Given the description of an element on the screen output the (x, y) to click on. 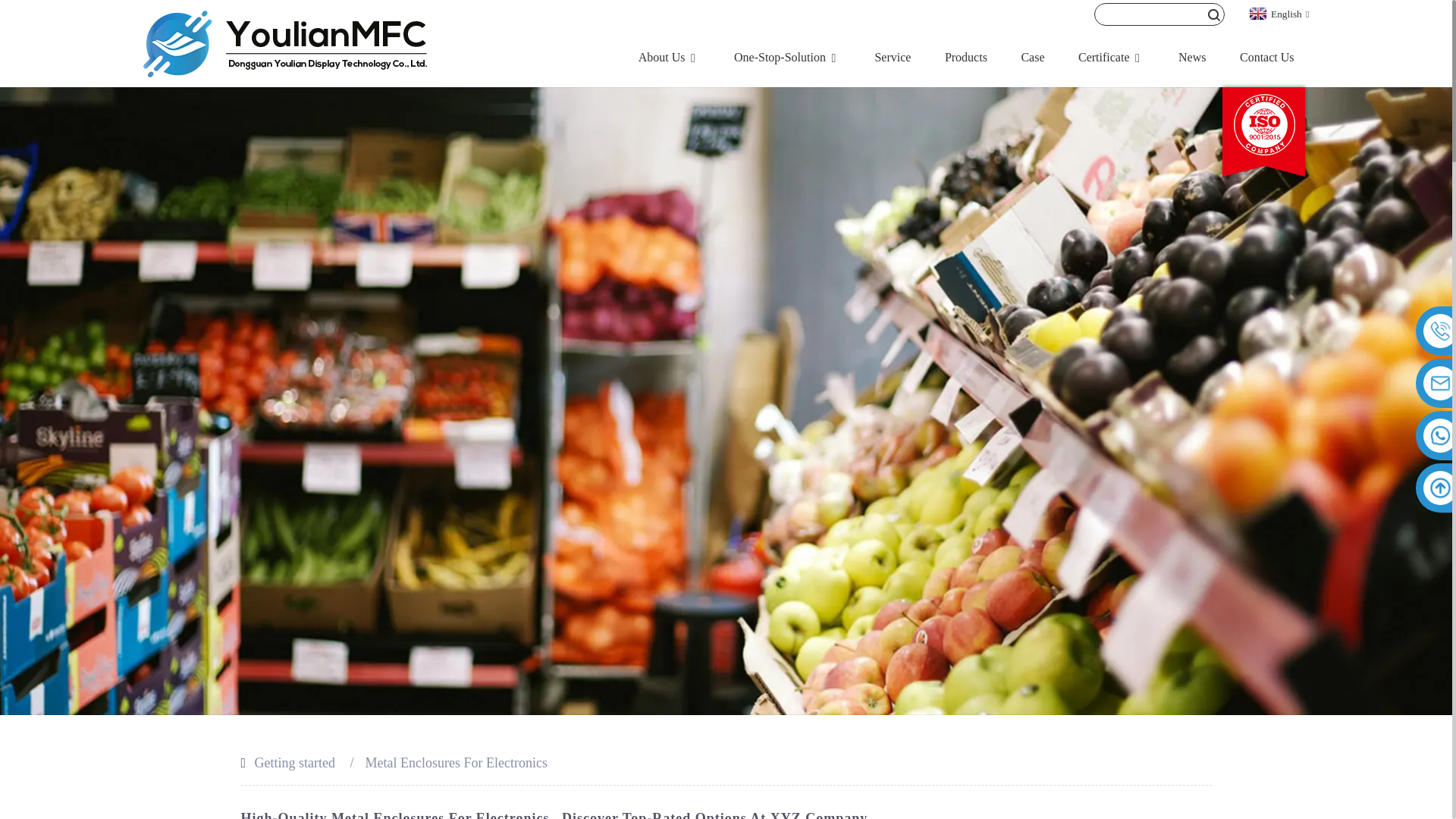
Contact Us (1267, 56)
Getting started (294, 762)
English (1277, 12)
About Us (669, 56)
One-Stop-Solution (787, 56)
Certificate (1111, 56)
Metal Enclosures For Electronics (456, 762)
